Given the description of an element on the screen output the (x, y) to click on. 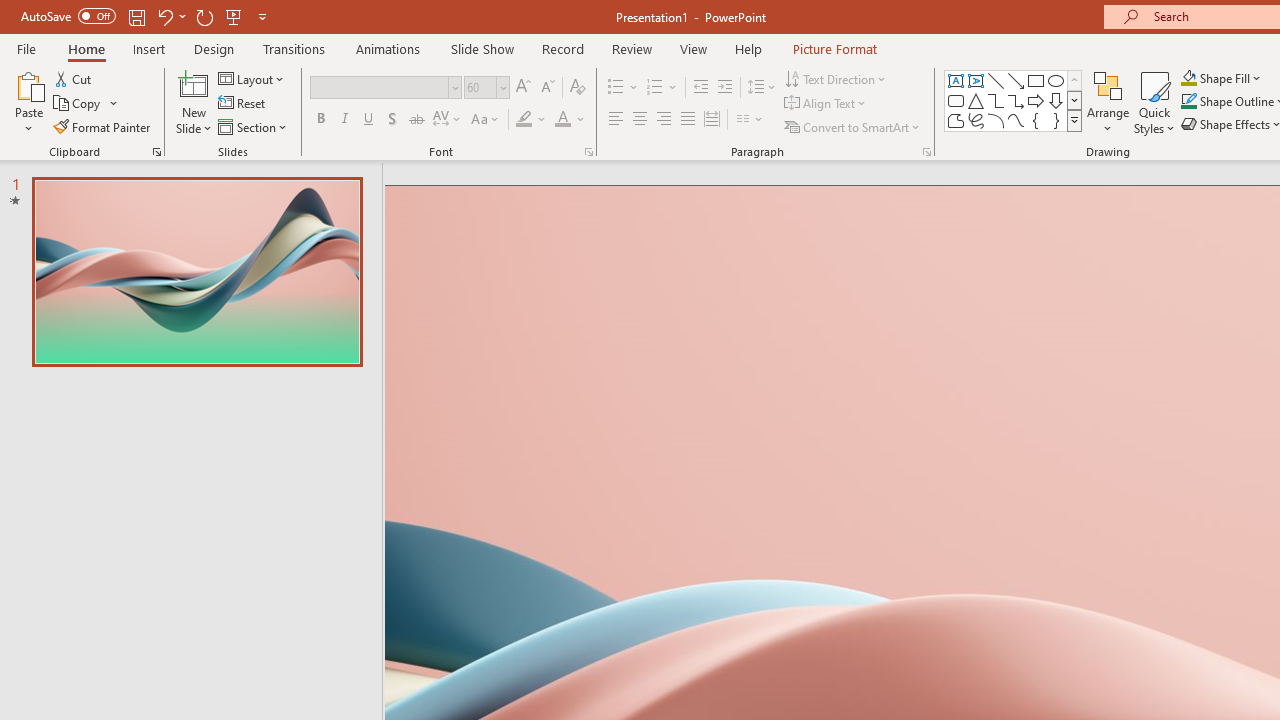
Font Color Red (562, 119)
Italic (344, 119)
Text Highlight Color (531, 119)
Font (385, 87)
Justify (687, 119)
Layout (252, 78)
Numbering (654, 87)
Row Down (1074, 100)
Decrease Indent (700, 87)
Shape Outline Blue, Accent 1 (1188, 101)
AutoSave (68, 16)
Home (86, 48)
